Given the description of an element on the screen output the (x, y) to click on. 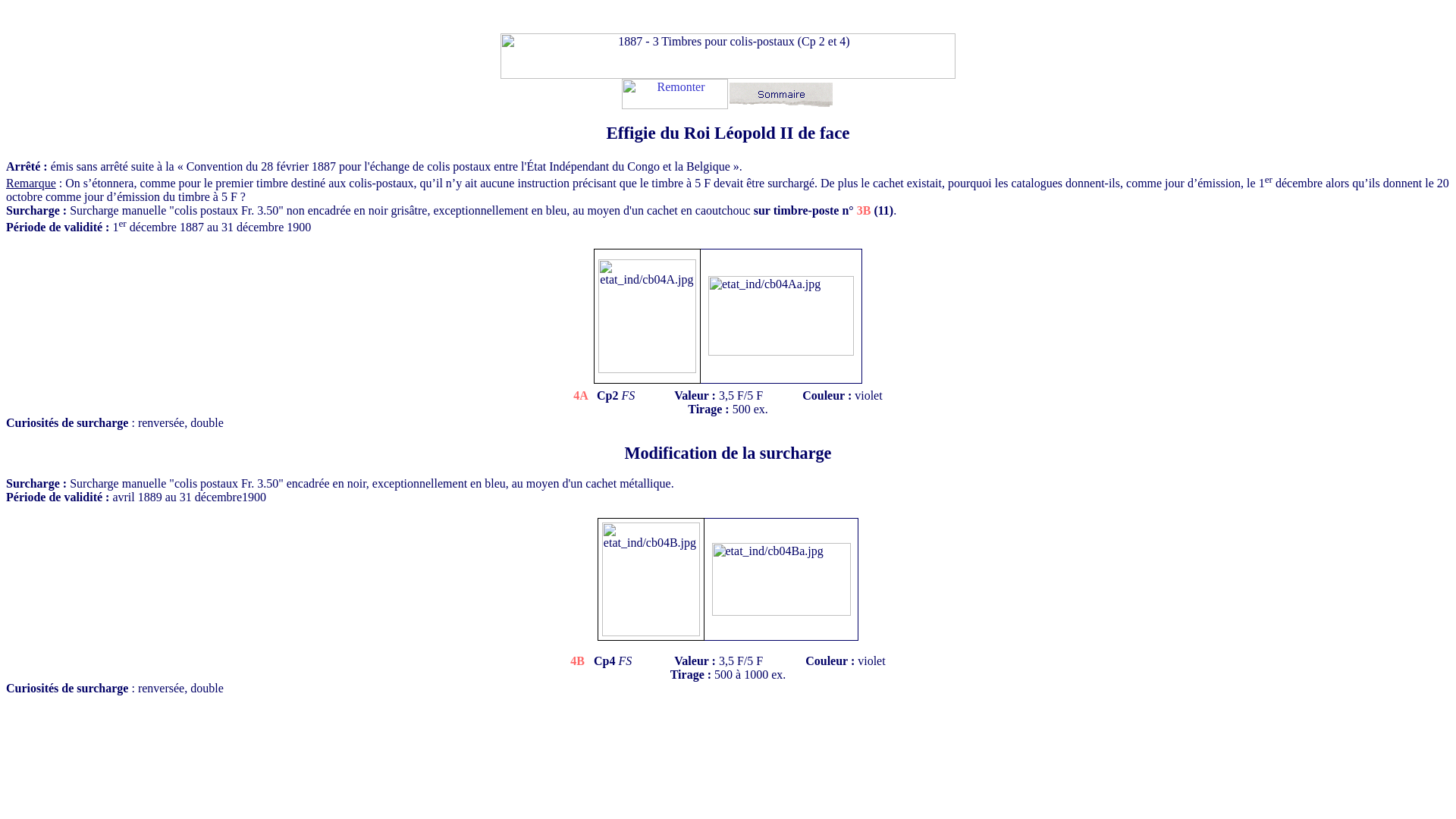
FS Element type: text (627, 395)
